Given the description of an element on the screen output the (x, y) to click on. 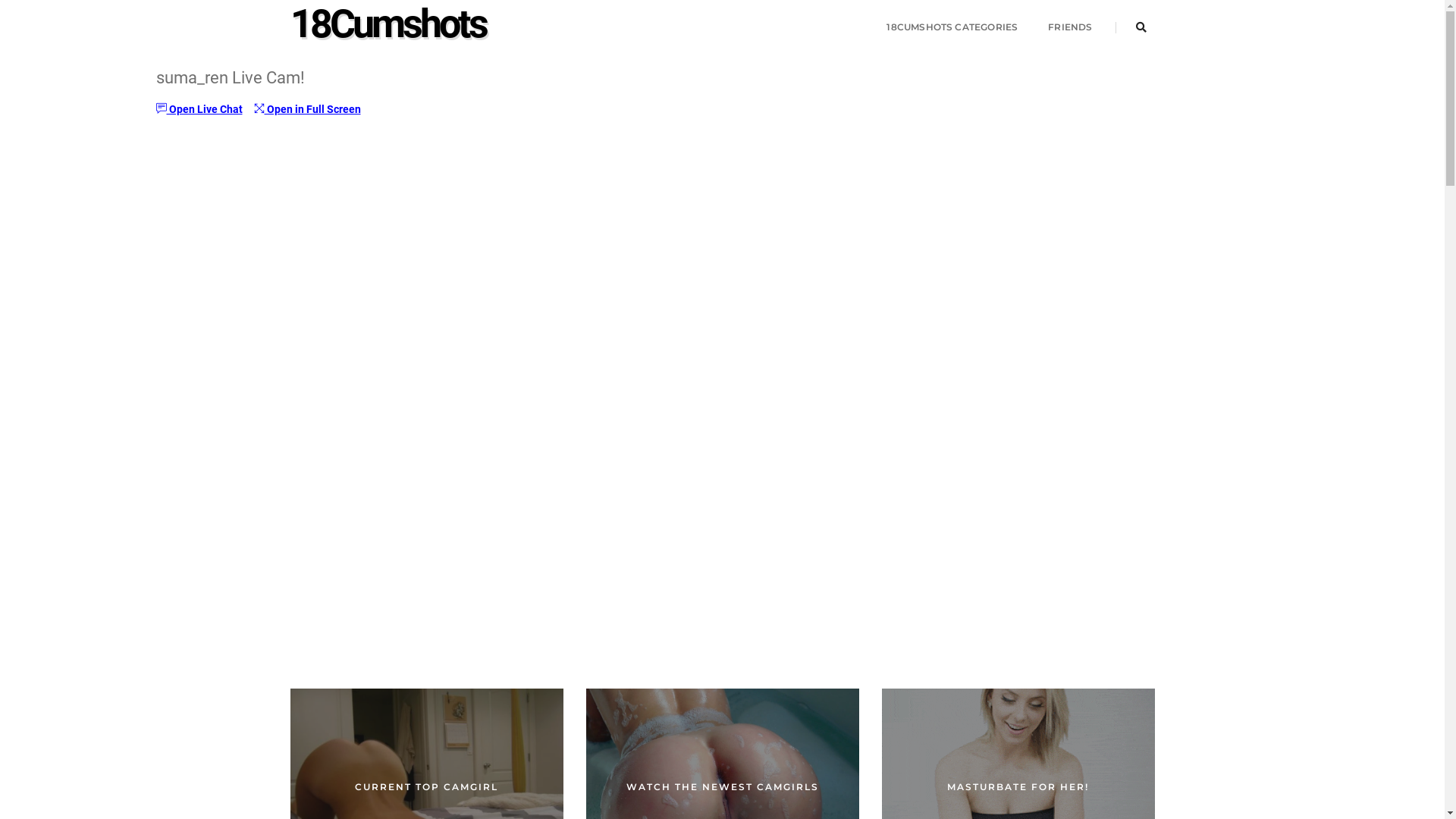
18Cumshots Element type: text (387, 27)
Open Live Chat Element type: text (199, 109)
18CUMSHOTS CATEGORIES Element type: text (951, 27)
Open in Full Screen Element type: text (306, 109)
FRIENDS Element type: text (1070, 27)
